Given the description of an element on the screen output the (x, y) to click on. 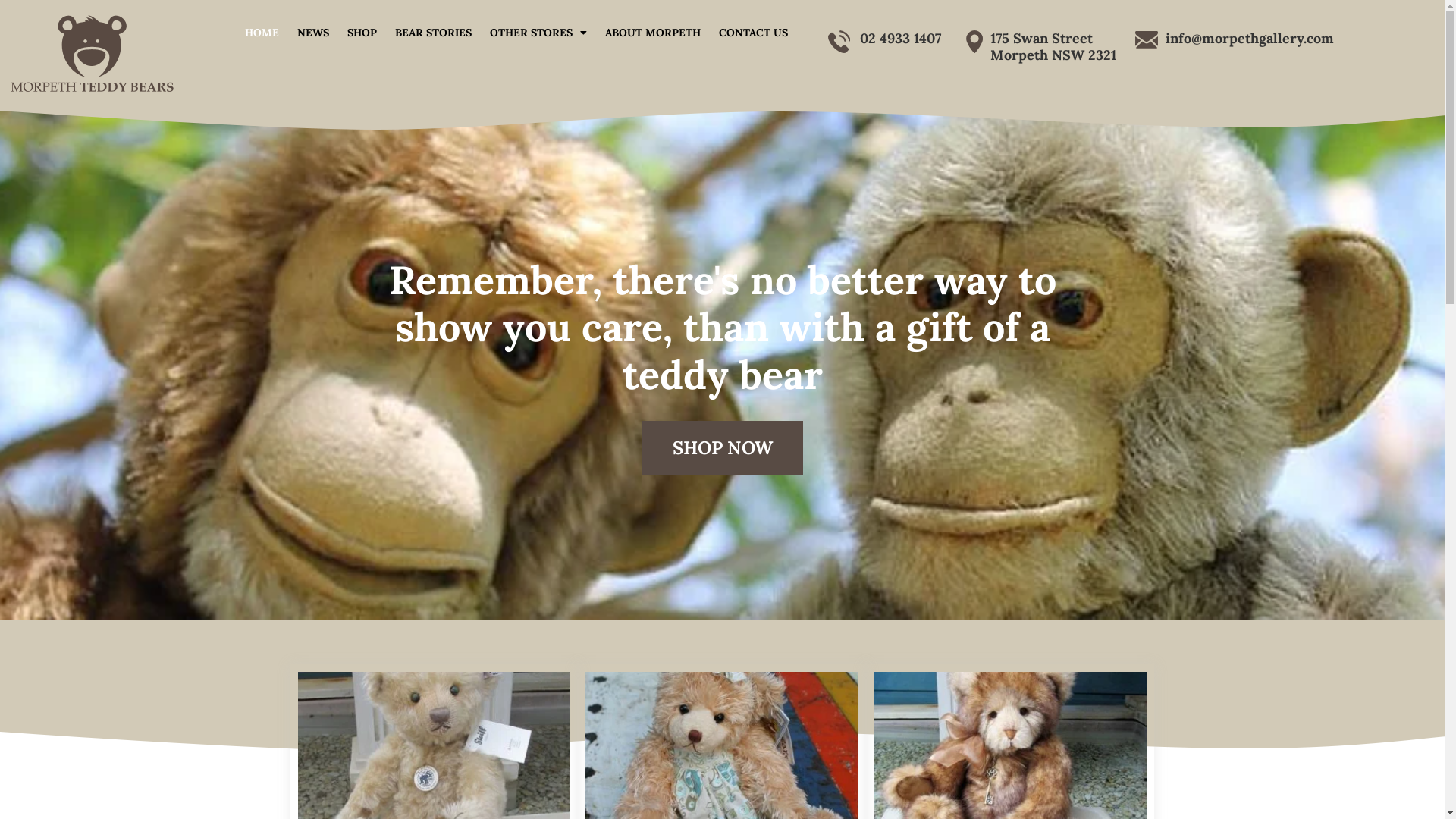
175 Swan Street
Morpeth NSW 2321 Element type: text (1053, 46)
OTHER STORES Element type: text (538, 32)
BEAR STORIES Element type: text (432, 32)
CONTACT US Element type: text (753, 32)
02 4933 1407 Element type: text (900, 38)
NEWS Element type: text (313, 32)
info@morpethgallery.com Element type: text (1249, 38)
ABOUT MORPETH Element type: text (652, 32)
SHOP Element type: text (361, 32)
HOME Element type: text (261, 32)
SHOP NOW Element type: text (721, 447)
